Given the description of an element on the screen output the (x, y) to click on. 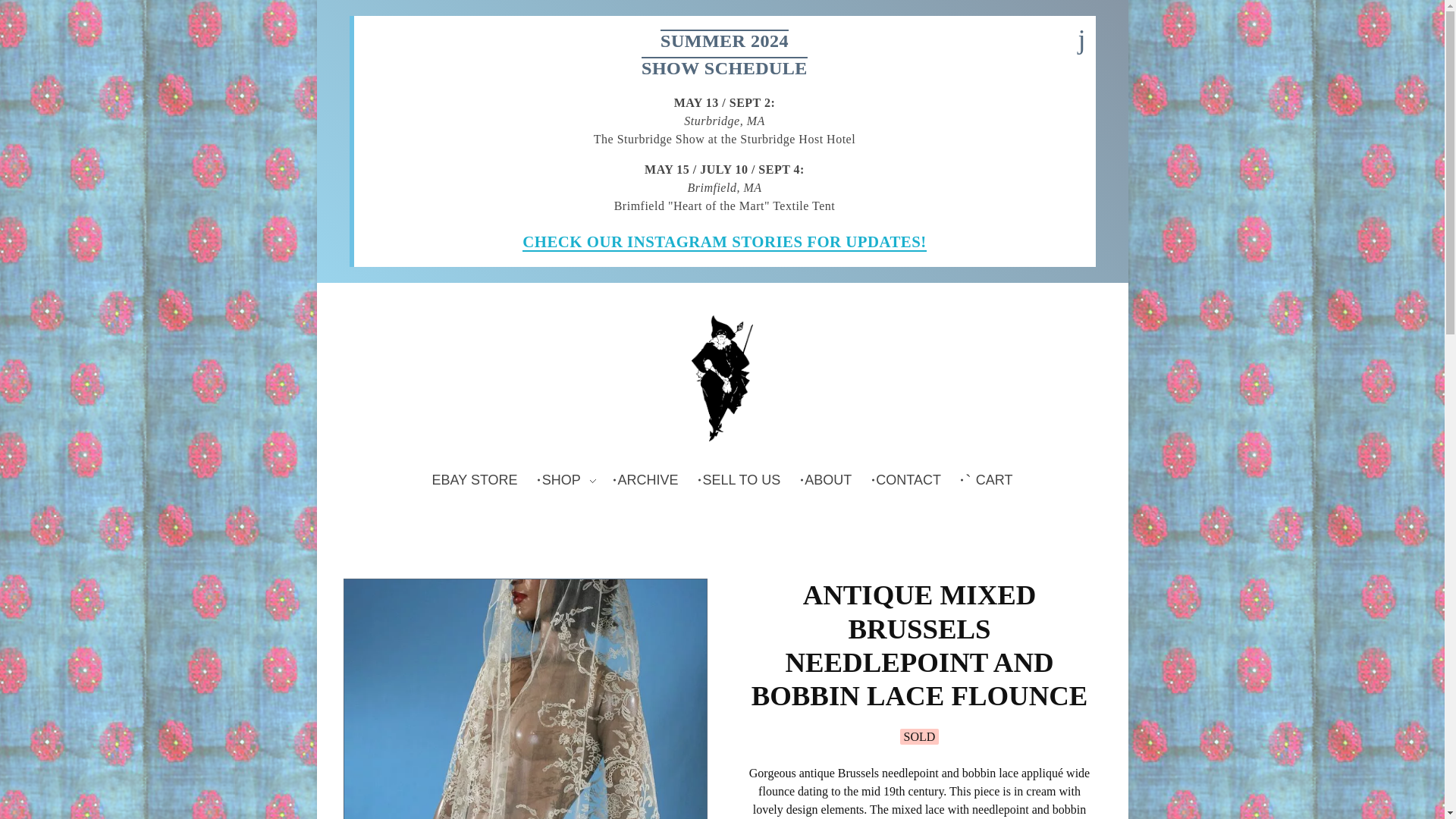
CHECK OUR INSTAGRAM STORIES FOR UPDATES! (724, 241)
CONTACT (911, 480)
CAROLYN FORBES TEXTILES (587, 449)
ABOUT (830, 480)
SELL TO US (743, 480)
CAROLYN FORBES TEXTILES (722, 378)
SHOP (570, 480)
EBAY STORE (477, 480)
Antique Mixed Brussels Needlepoint and Bobbin Lace Flounce (524, 699)
ARCHIVE (650, 480)
CART (989, 480)
CAROLYN FORBES TEXTILES (587, 317)
